Given the description of an element on the screen output the (x, y) to click on. 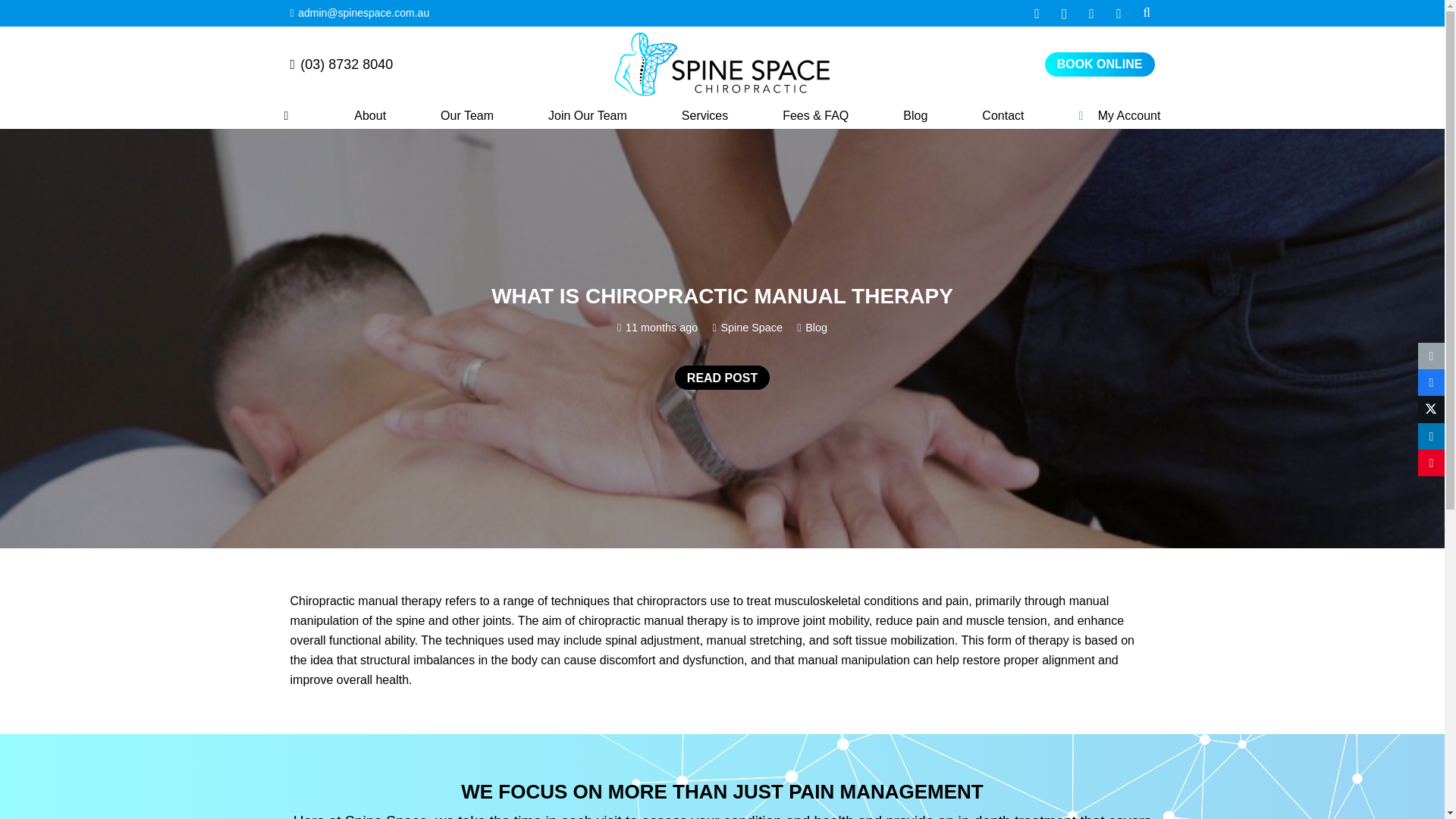
YouTube (1091, 13)
LinkedIn (1118, 13)
Services (704, 116)
BOOK ONLINE (1099, 64)
About (369, 116)
Spine Space (751, 327)
Blog (816, 327)
Instagram (1064, 13)
Contact (1002, 116)
Facebook (1037, 13)
Join Our Team (587, 116)
Blog (914, 116)
READ POST (722, 377)
My Account (1118, 116)
Our Team (466, 116)
